Given the description of an element on the screen output the (x, y) to click on. 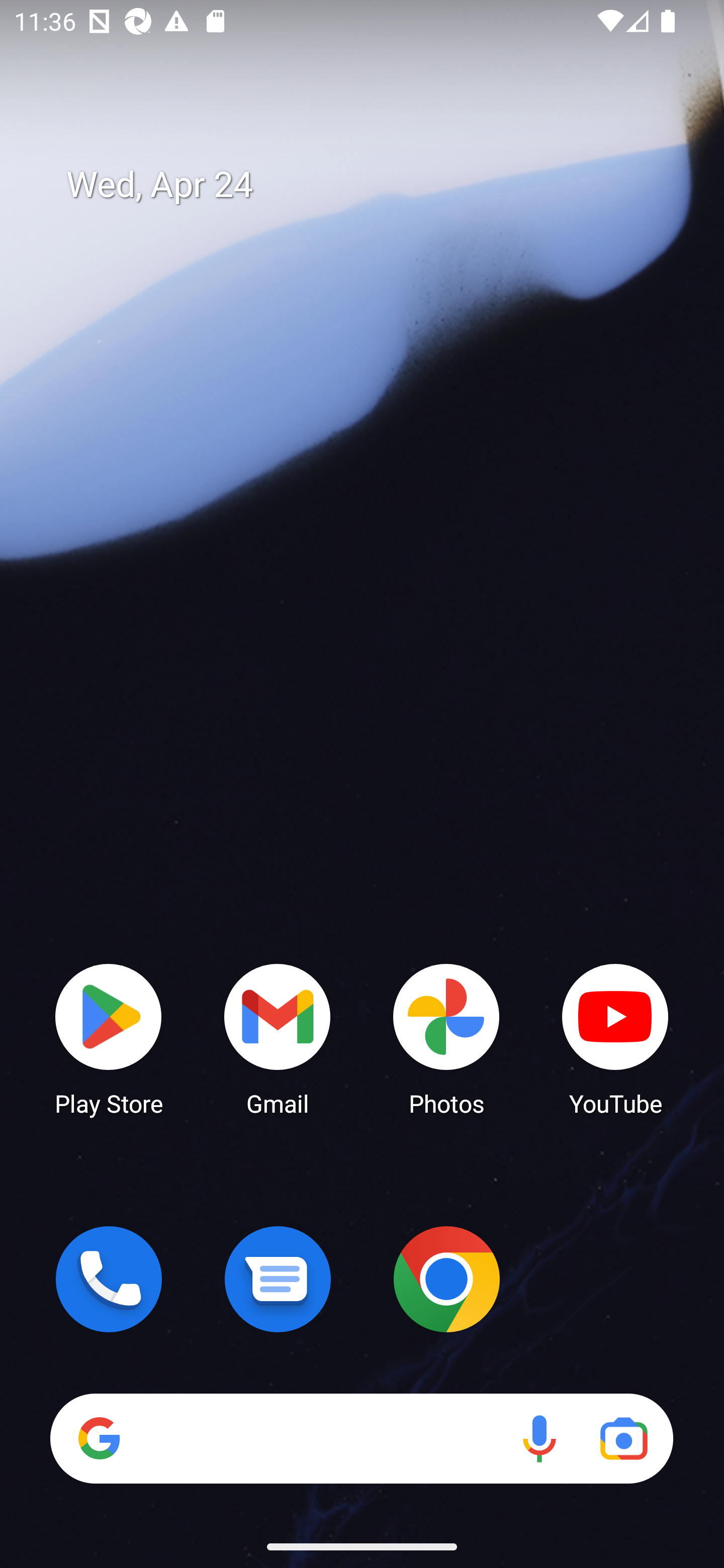
Wed, Apr 24 (375, 184)
Play Store (108, 1038)
Gmail (277, 1038)
Photos (445, 1038)
YouTube (615, 1038)
Phone (108, 1279)
Messages (277, 1279)
Chrome (446, 1279)
Search Voice search Google Lens (361, 1438)
Voice search (539, 1438)
Google Lens (623, 1438)
